Given the description of an element on the screen output the (x, y) to click on. 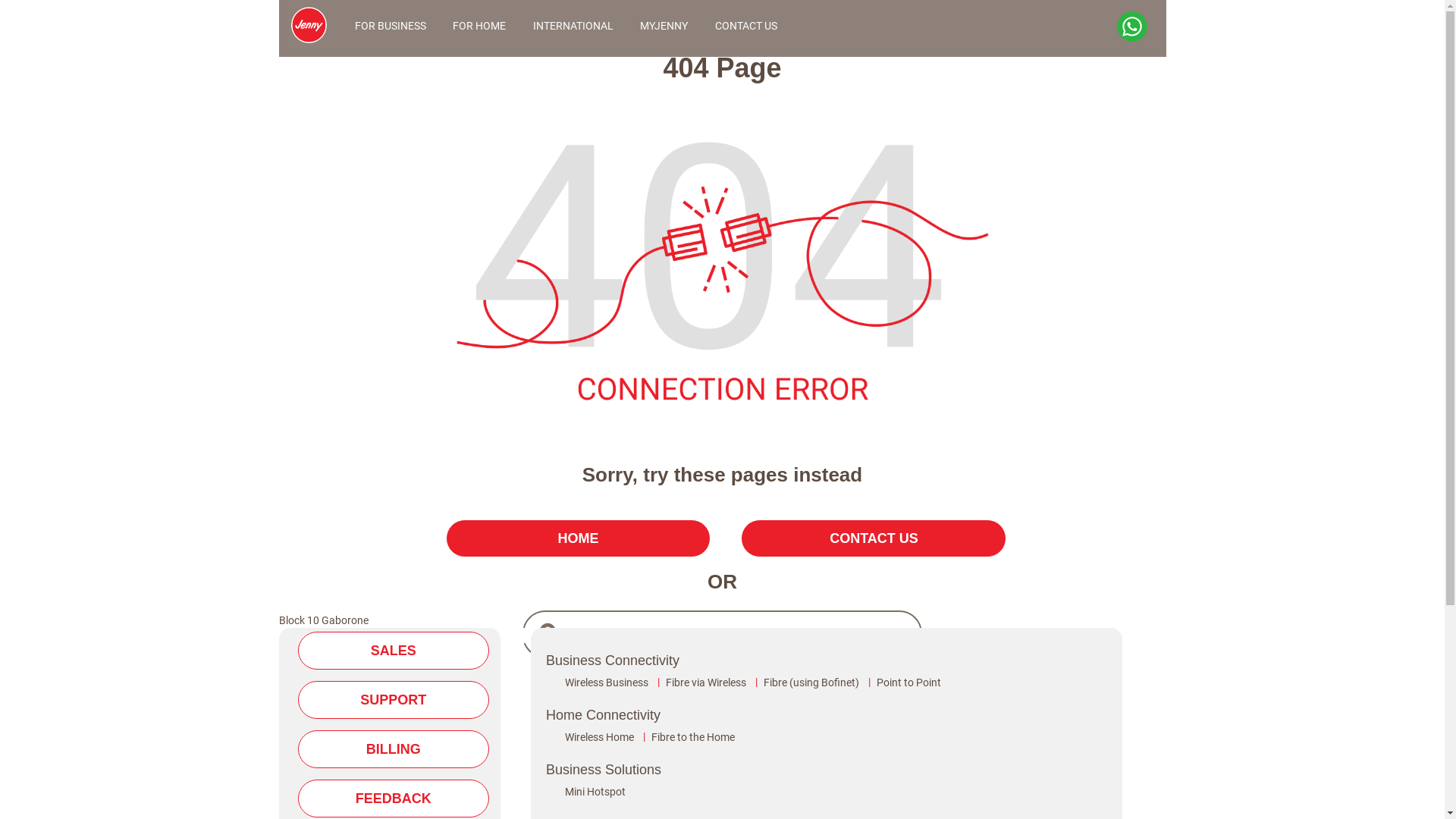
Mini Hotspot Element type: text (594, 792)
CONTACT US Element type: text (873, 538)
MYJENNY Element type: text (660, 26)
Block 10 Gaborone Element type: text (323, 620)
WHATSAPP Element type: text (1132, 26)
CONTACT US Element type: text (741, 26)
Fibre (using Bofinet) Element type: text (811, 682)
Search Element type: text (595, 676)
SALES Element type: text (393, 650)
FEEDBACK Element type: text (393, 798)
Point to Point Element type: text (908, 682)
INTERNATIONAL Element type: text (568, 26)
SUPPORT Element type: text (393, 699)
Skip to main content Element type: text (0, 53)
Fibre to the Home Element type: text (692, 737)
HOME Element type: text (578, 538)
FOR HOME Element type: text (475, 26)
Wireless Business Element type: text (606, 682)
Fibre via Wireless Element type: text (705, 682)
FOR BUSINESS Element type: text (386, 26)
BILLING Element type: text (393, 749)
Wireless Home Element type: text (598, 737)
Home Element type: hover (308, 10)
